Given the description of an element on the screen output the (x, y) to click on. 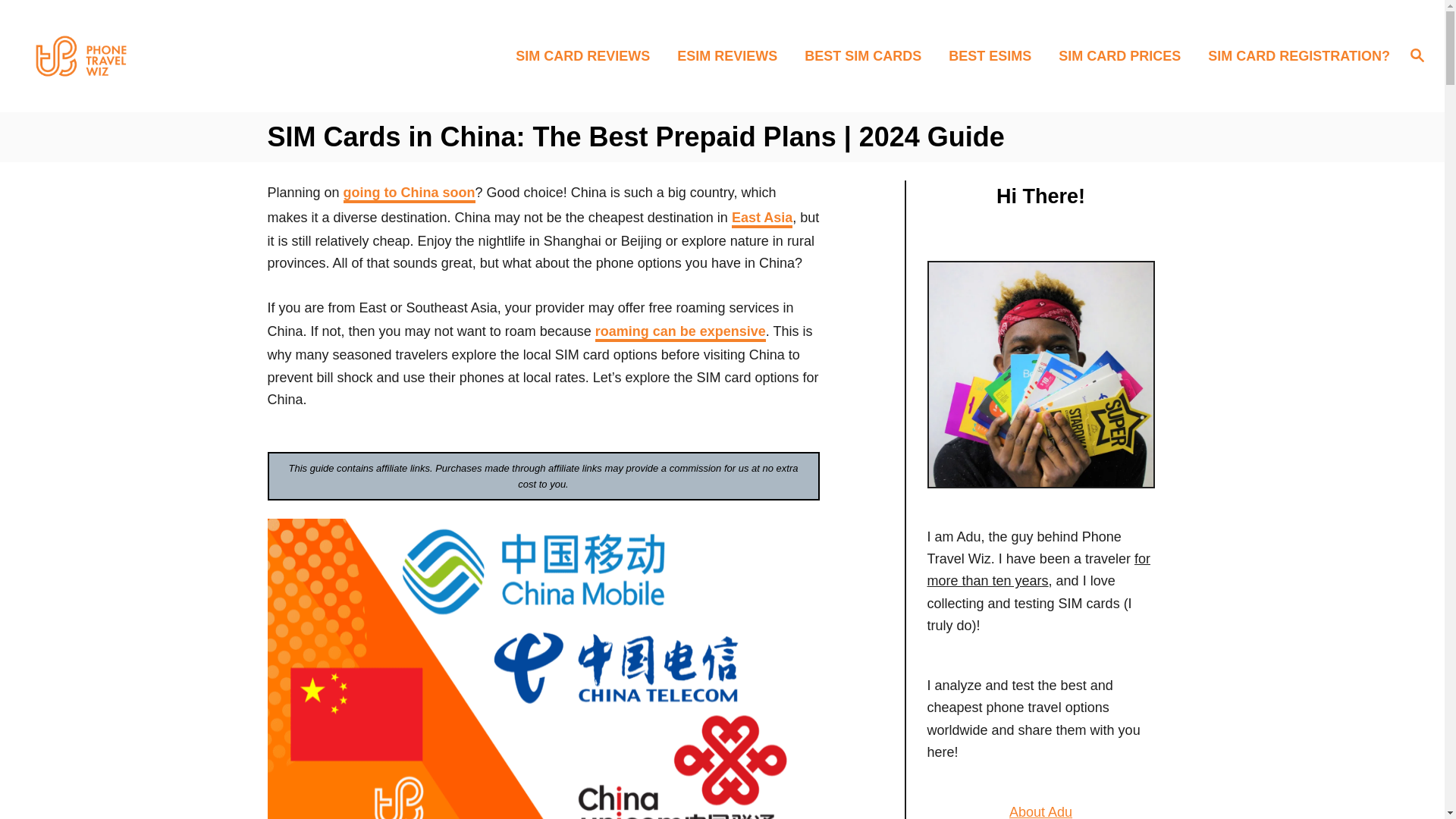
BEST ESIMS (994, 55)
ESIM REVIEWS (731, 55)
roaming can be expensive (680, 332)
SIM CARD REGISTRATION? (1294, 55)
going to China soon (409, 194)
SIM CARD PRICES (1123, 55)
Phone Travel Wiz (187, 56)
East Asia (762, 218)
SIM CARD REVIEWS (587, 55)
Magnifying Glass (1416, 54)
BEST SIM CARDS (866, 55)
